Given the description of an element on the screen output the (x, y) to click on. 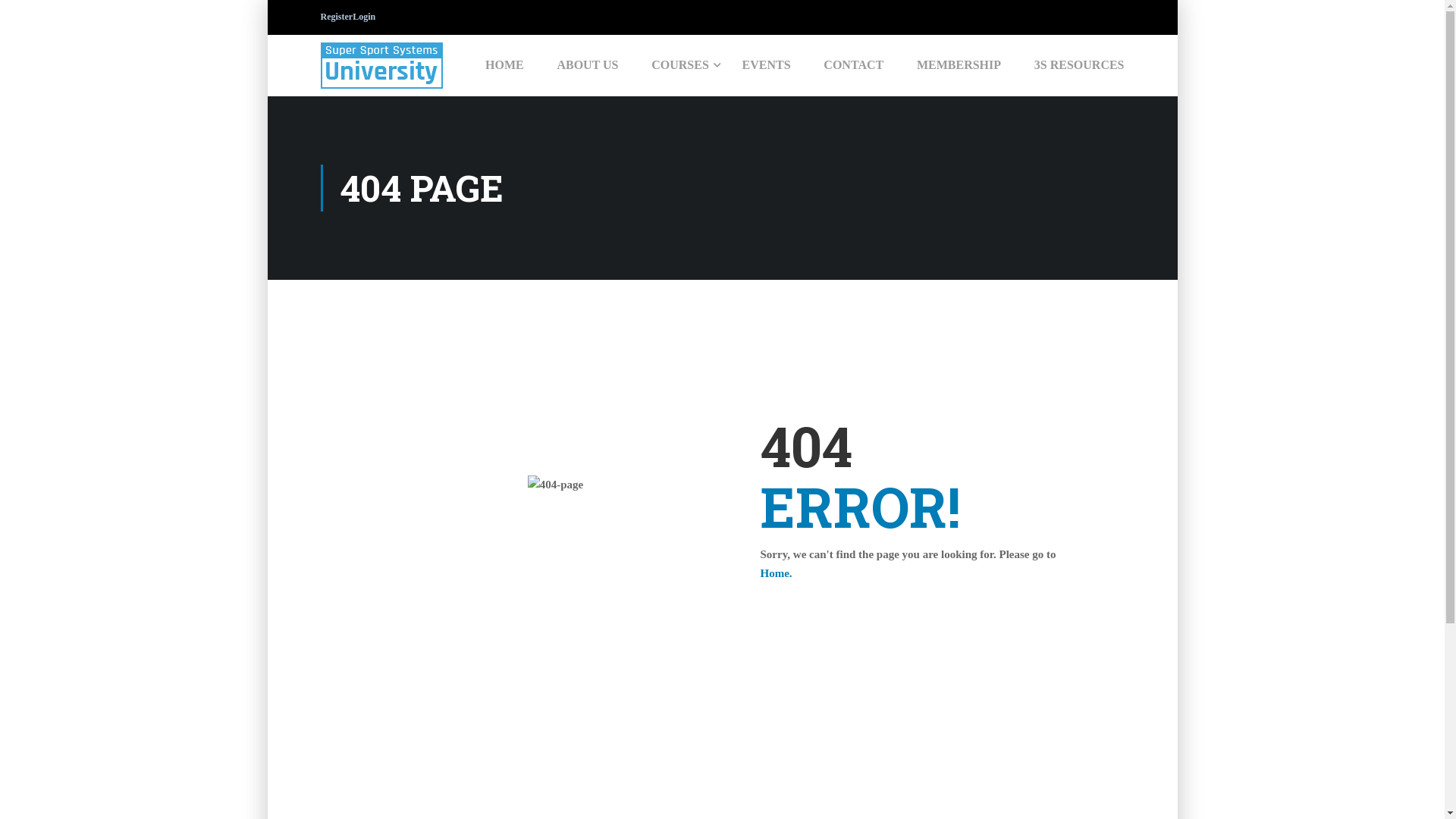
HOME Element type: text (504, 64)
3S RESOURCES Element type: text (1071, 64)
ABOUT US Element type: text (587, 64)
EVENTS Element type: text (766, 64)
Home. Element type: text (775, 573)
Register Element type: text (336, 16)
Sign up Element type: text (909, 446)
Login Element type: text (363, 16)
MEMBERSHIP Element type: text (958, 64)
Login Element type: text (837, 423)
COURSES Element type: text (680, 64)
CONTACT Element type: text (853, 64)
